Given the description of an element on the screen output the (x, y) to click on. 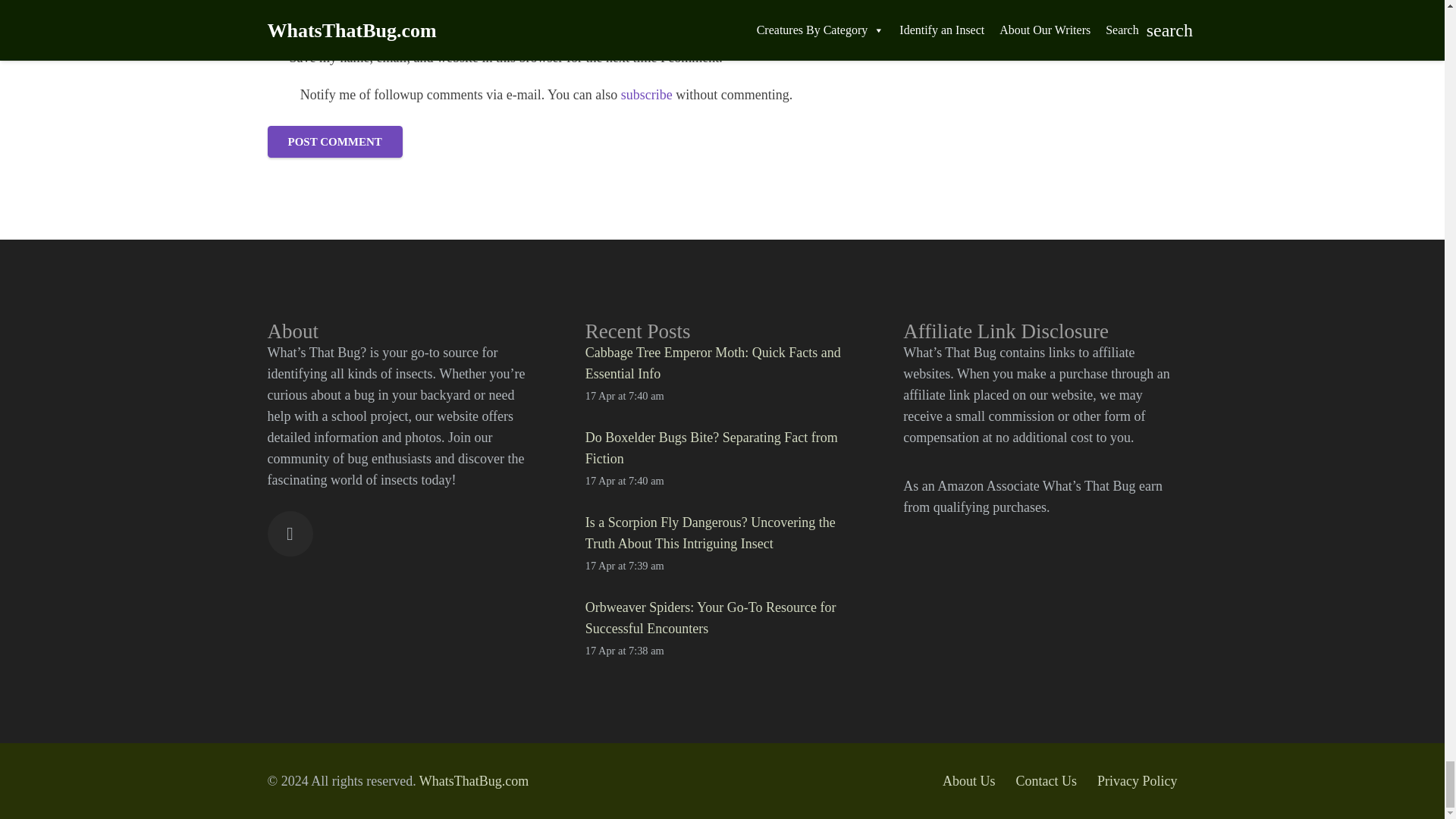
1 (274, 58)
yes (278, 94)
